Given the description of an element on the screen output the (x, y) to click on. 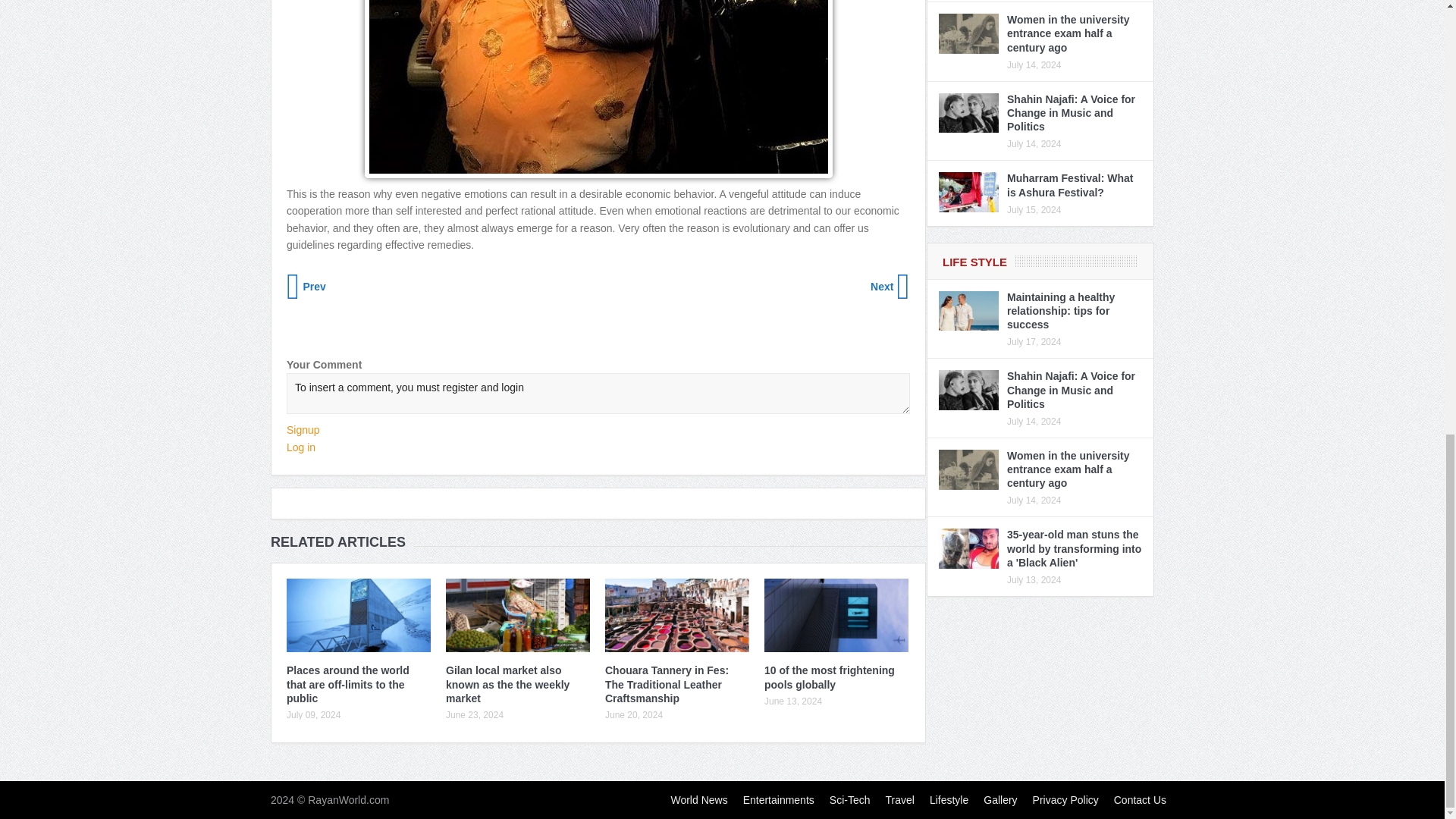
10 of the most frightening pools globally (829, 677)
Next (888, 286)
Places around the world that are off-limits to the public (347, 683)
Gilan local market also known as the the weekly market (507, 683)
Log in (300, 447)
Signup (303, 429)
Prev (307, 286)
